Given the description of an element on the screen output the (x, y) to click on. 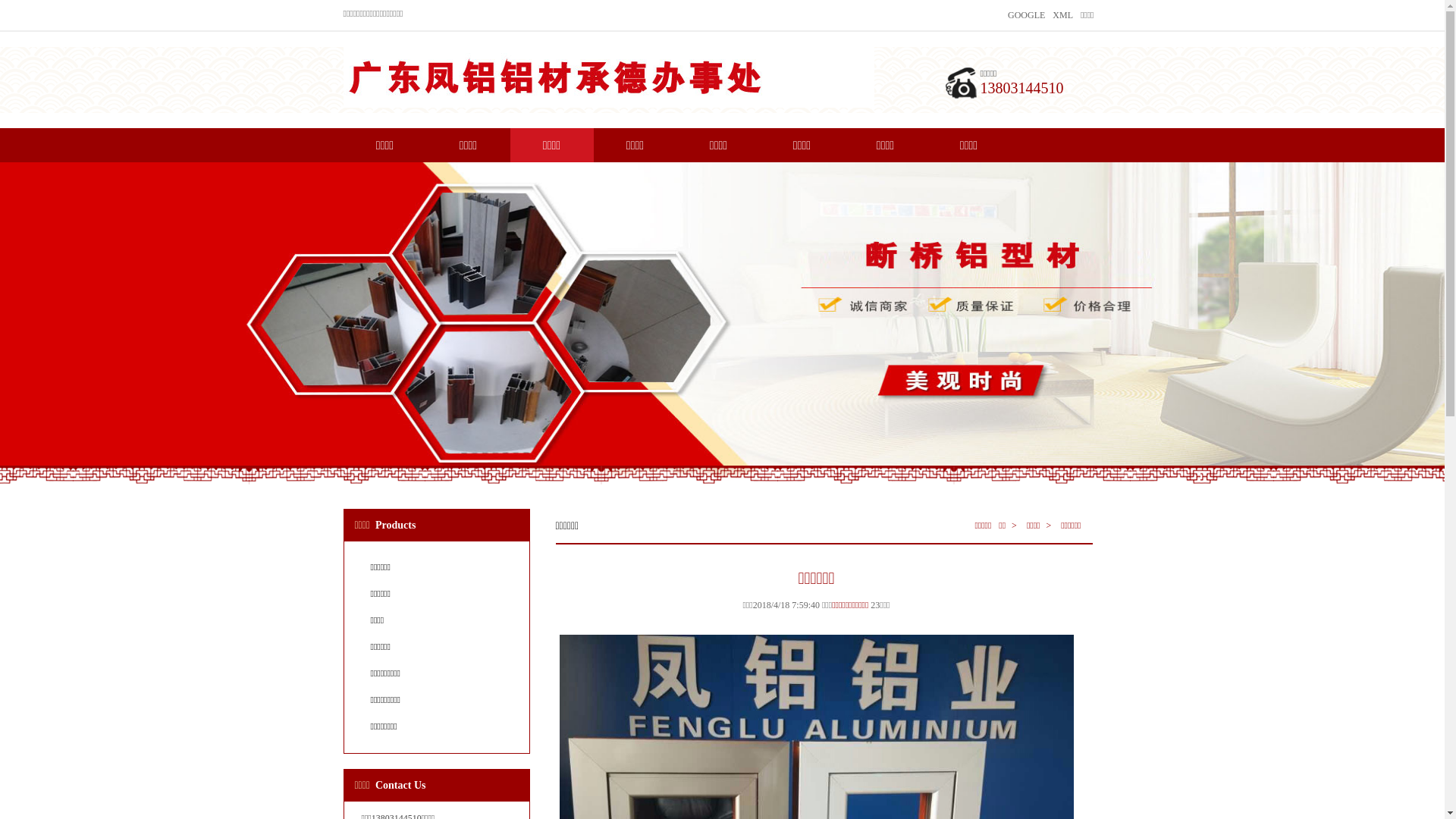
XML Element type: text (1062, 14)
GOOGLE Element type: text (1025, 14)
